Given the description of an element on the screen output the (x, y) to click on. 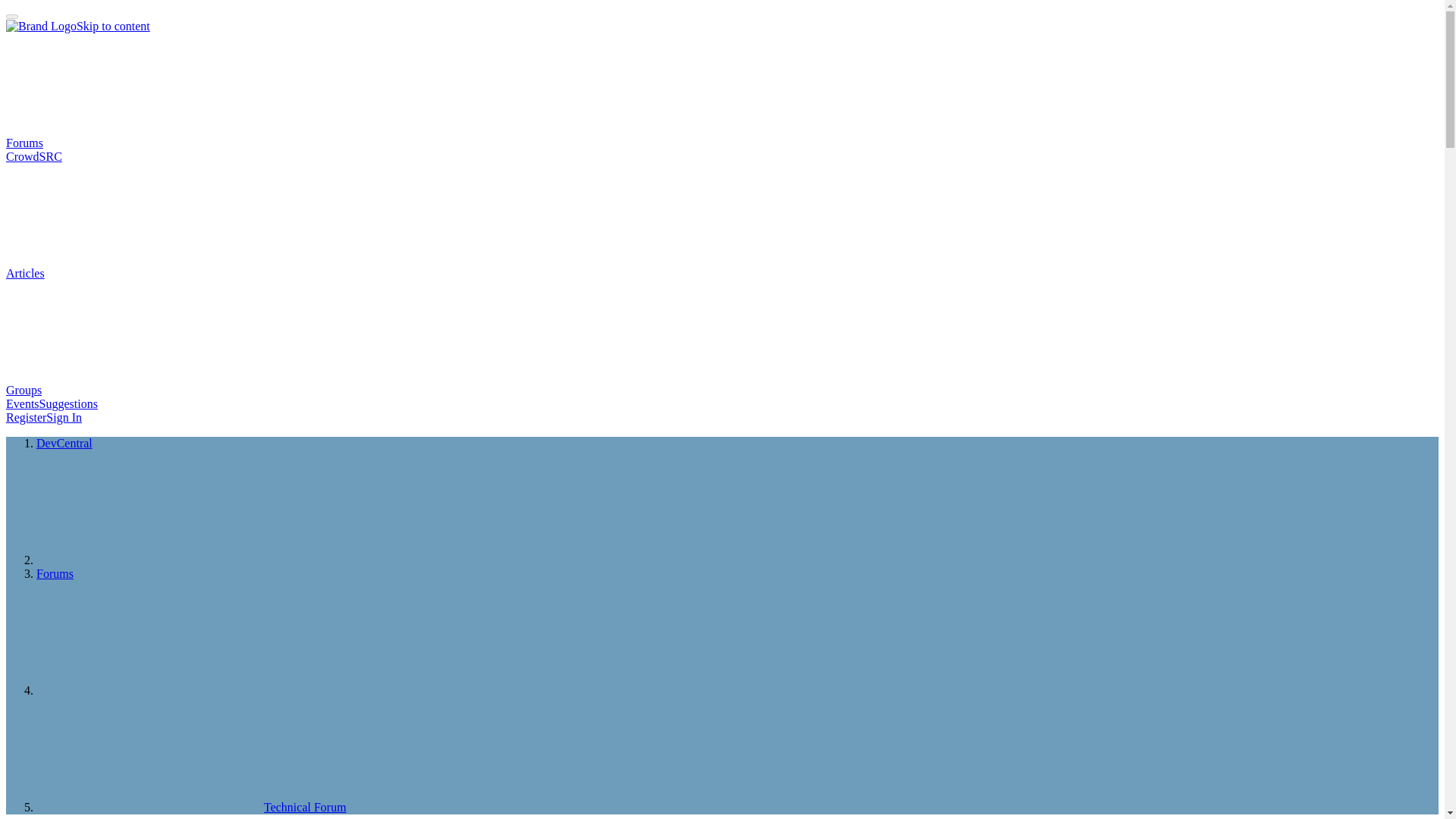
Sign In (63, 417)
Skip to content (113, 25)
Articles (138, 273)
Technical Forum (191, 807)
Forums (137, 142)
CrowdSRC (33, 155)
Register (25, 417)
Events (22, 403)
DevCentral (64, 442)
Forums (55, 573)
Groups (137, 390)
Suggestions (68, 403)
